Given the description of an element on the screen output the (x, y) to click on. 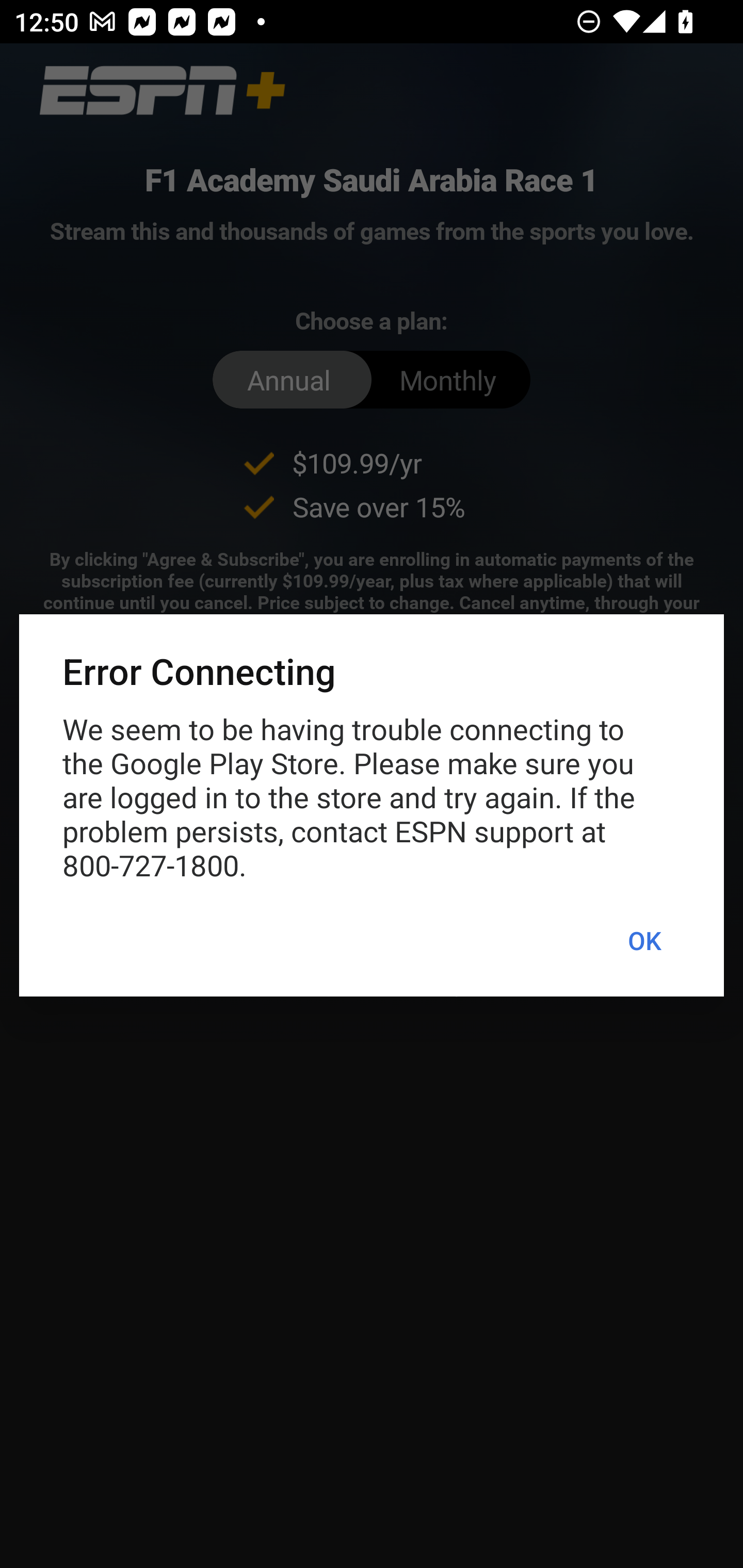
OK (644, 940)
